Given the description of an element on the screen output the (x, y) to click on. 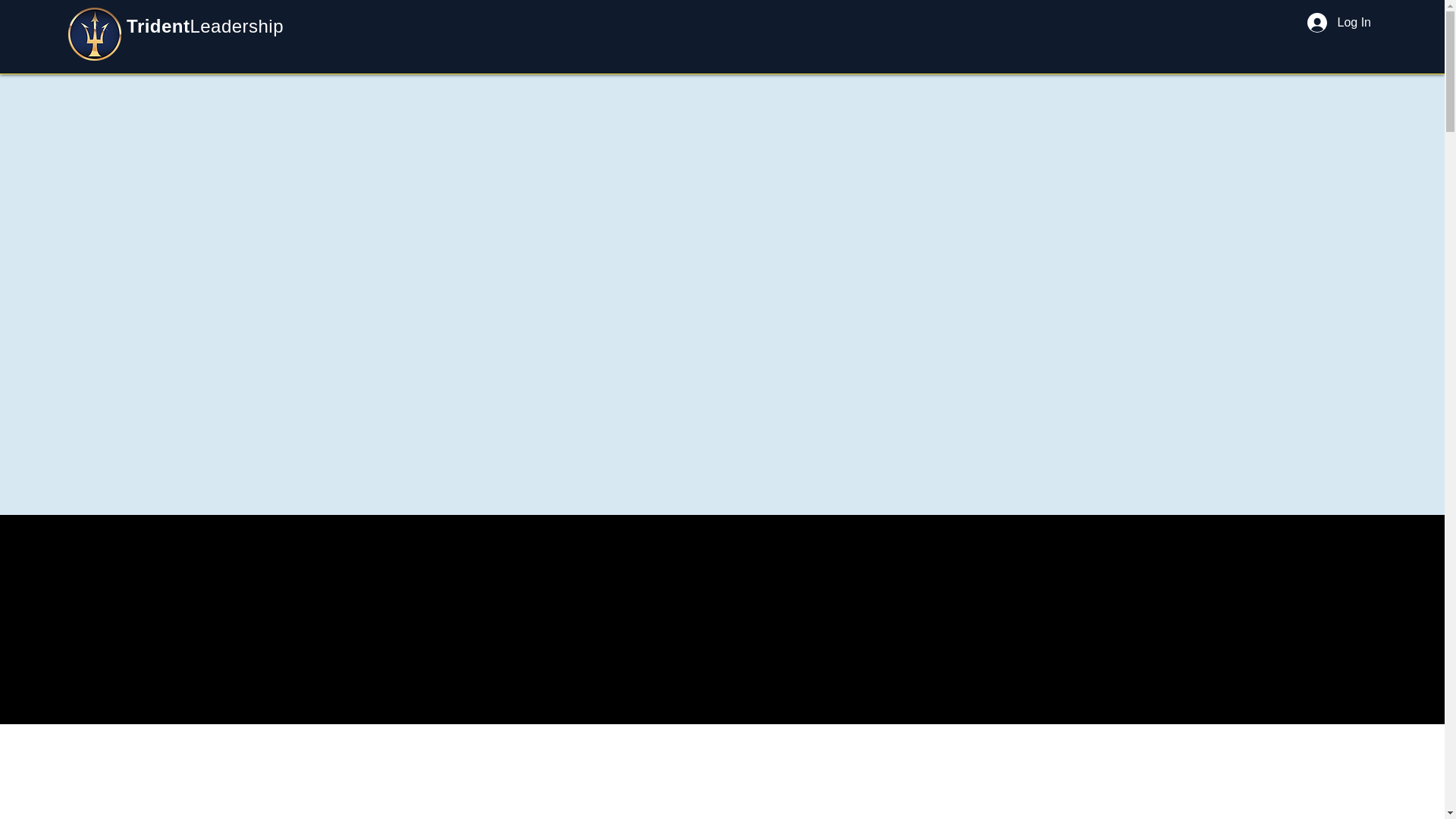
TRIDENT GOLD 2020 CENTERED.png (94, 33)
TridentLeadership (204, 25)
Log In (1339, 22)
